Given the description of an element on the screen output the (x, y) to click on. 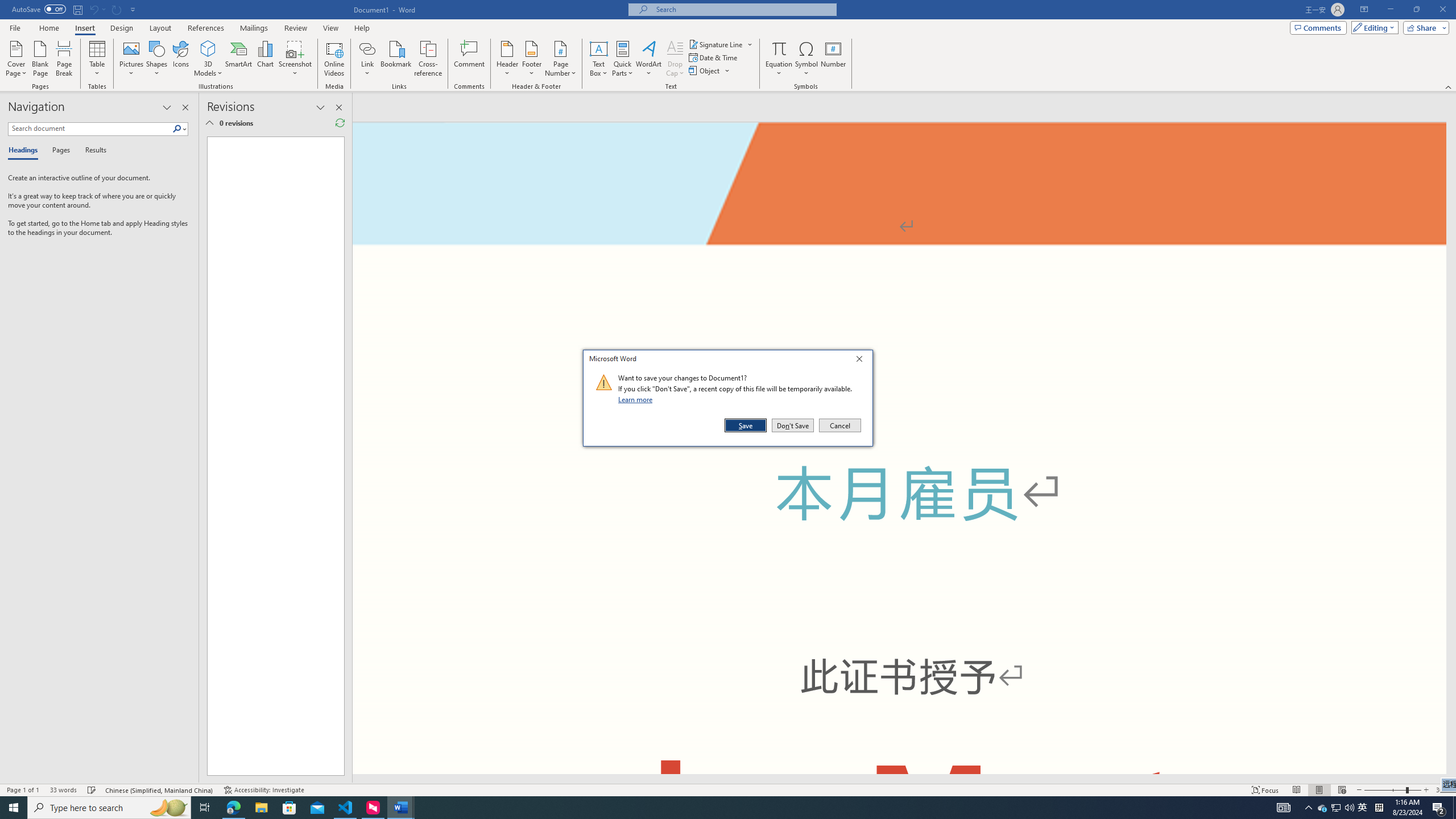
Bookmark... (396, 58)
Drop Cap (674, 58)
WordArt (648, 58)
Page 1 content (271, 455)
Page Number (560, 58)
Header (507, 58)
